Given the description of an element on the screen output the (x, y) to click on. 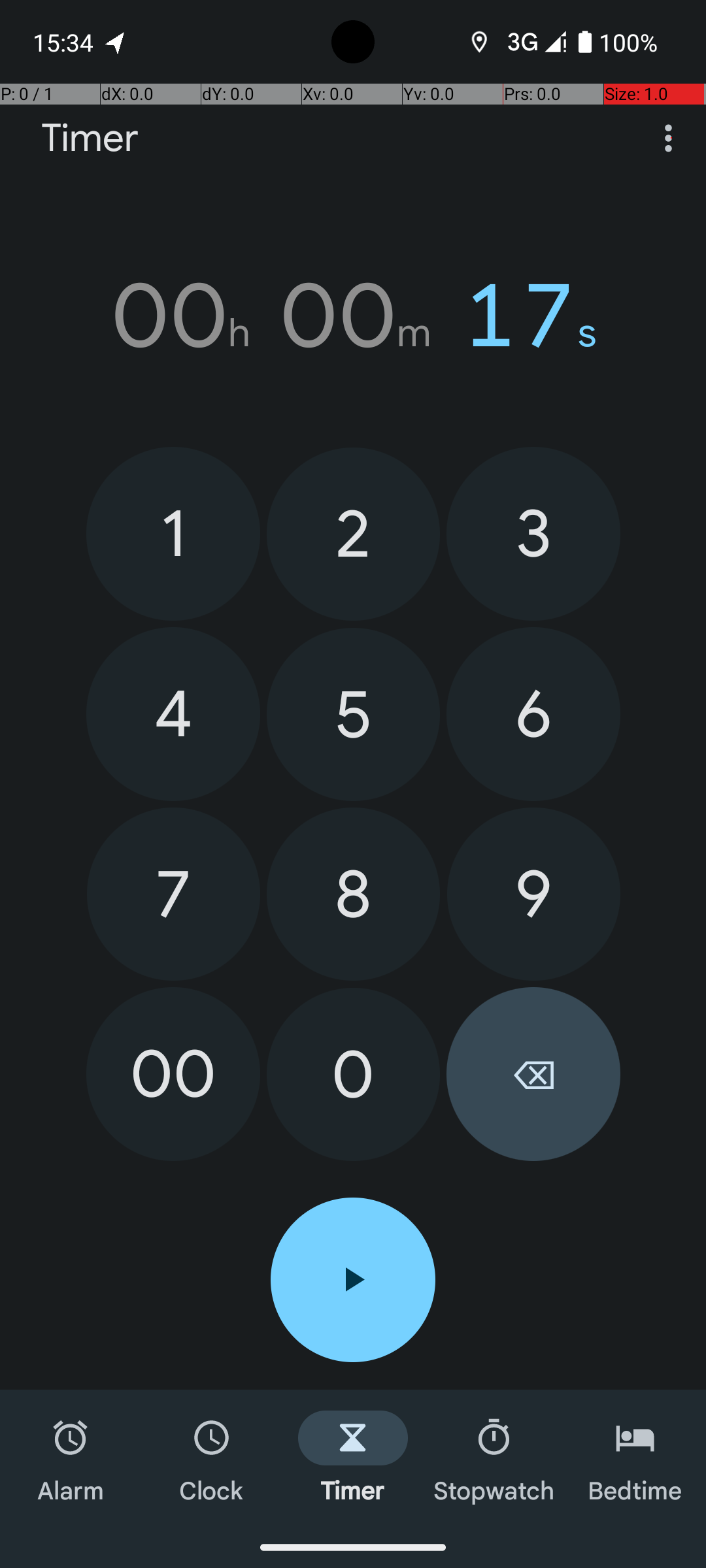
00h 00m 17s Element type: android.widget.TextView (353, 315)
